Given the description of an element on the screen output the (x, y) to click on. 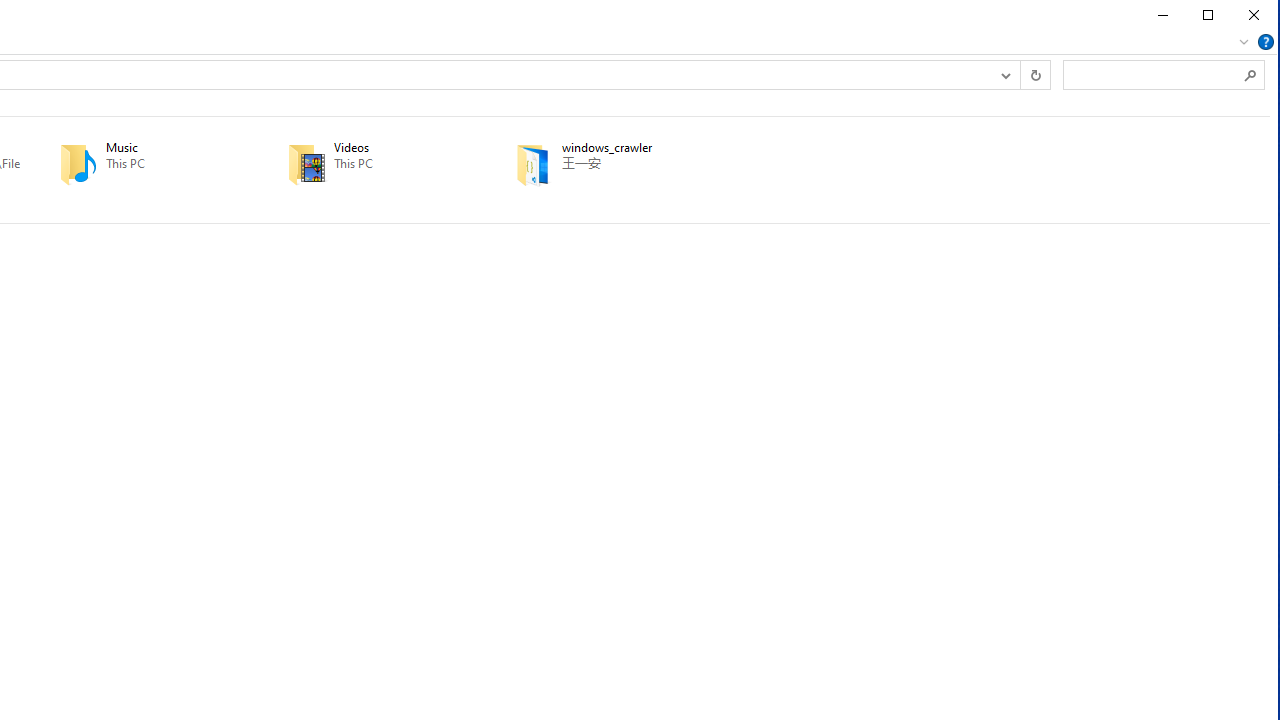
Class: UIImage (534, 163)
Previous Locations (1004, 74)
